Given the description of an element on the screen output the (x, y) to click on. 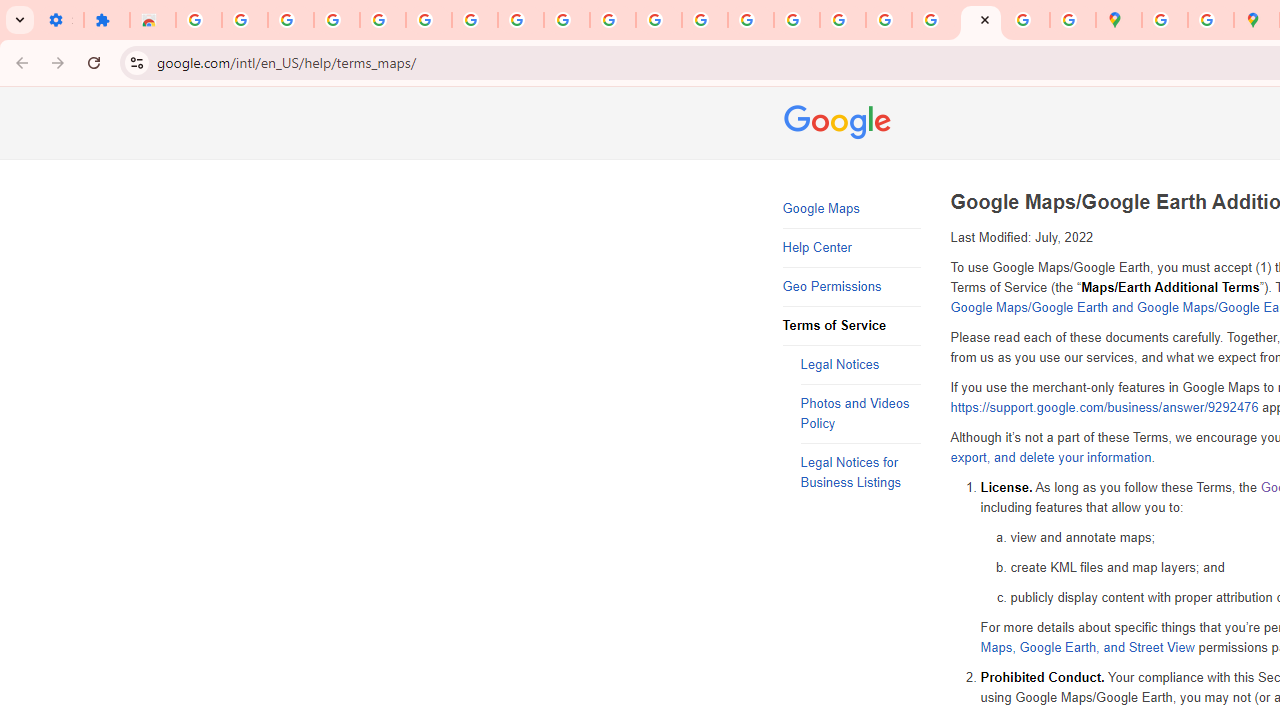
Terms of Service (851, 326)
https://scholar.google.com/ (705, 20)
Delete photos & videos - Computer - Google Photos Help (244, 20)
Google Maps (1118, 20)
Photos and Videos Policy (860, 414)
Google Account Help (428, 20)
Sign in - Google Accounts (198, 20)
